Given the description of an element on the screen output the (x, y) to click on. 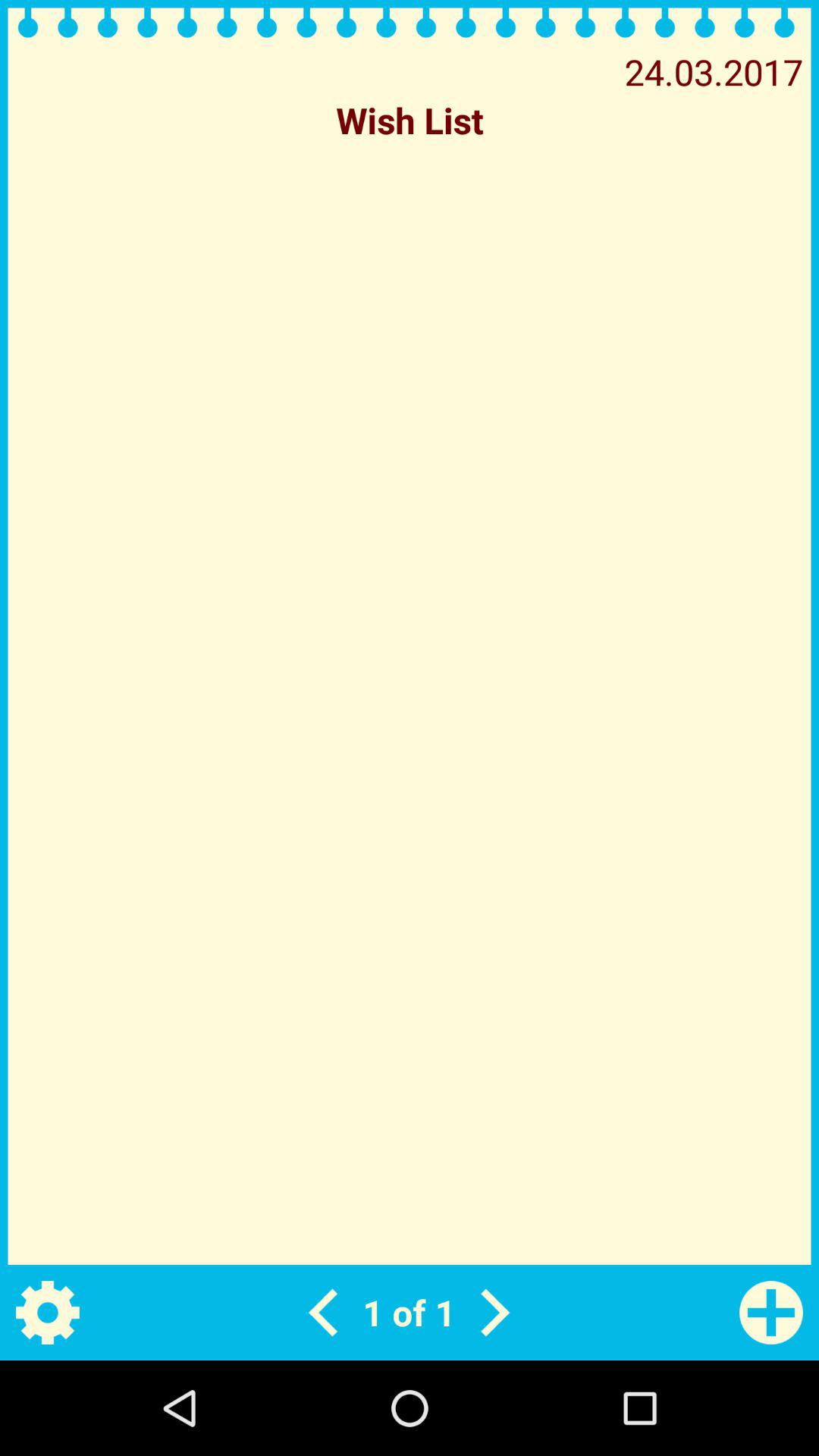
swipe until wish list icon (409, 120)
